Given the description of an element on the screen output the (x, y) to click on. 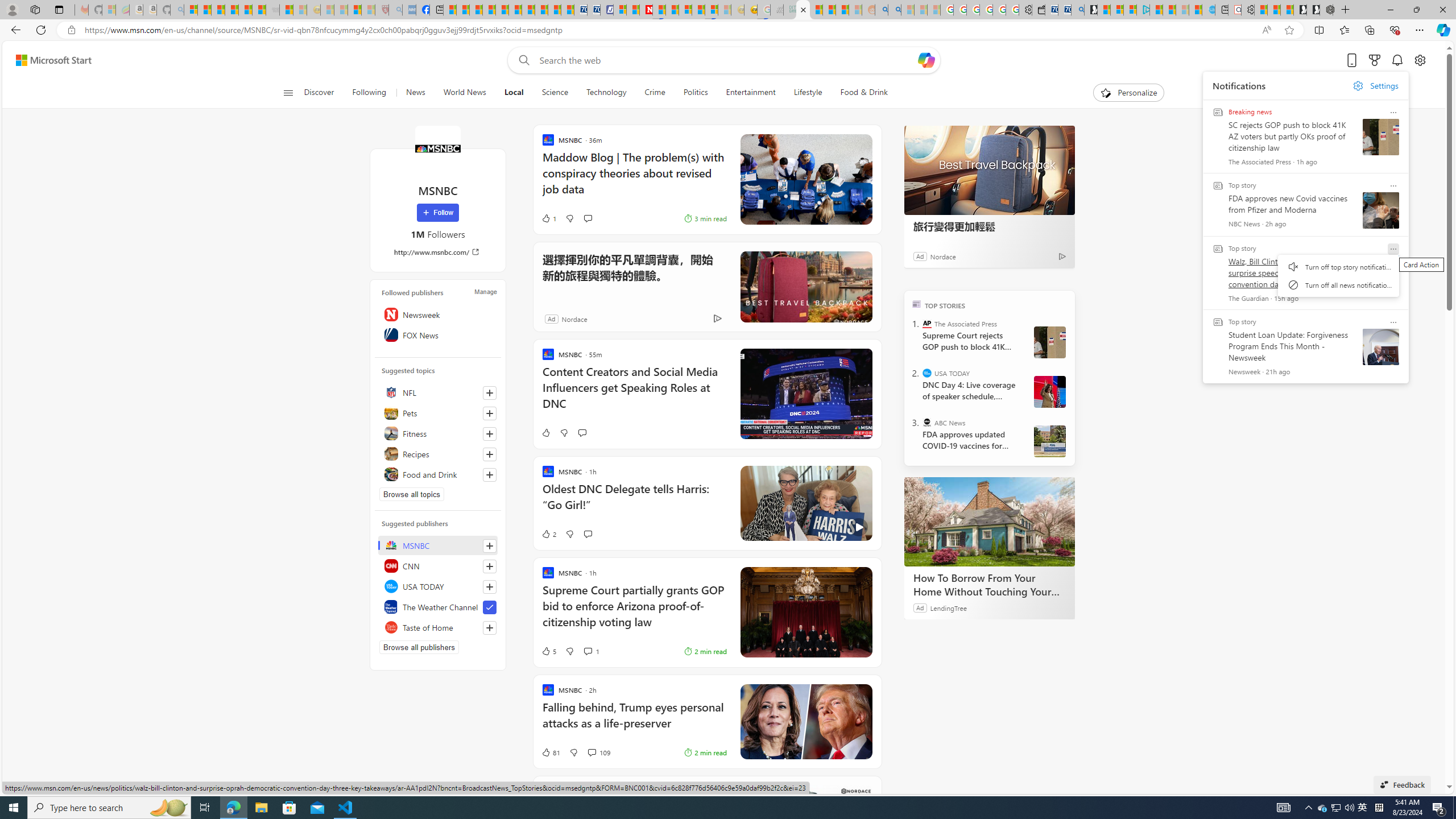
Student Loan Update: Forgiveness Program Ends This Month (842, 9)
Follow this source (489, 627)
